Given the description of an element on the screen output the (x, y) to click on. 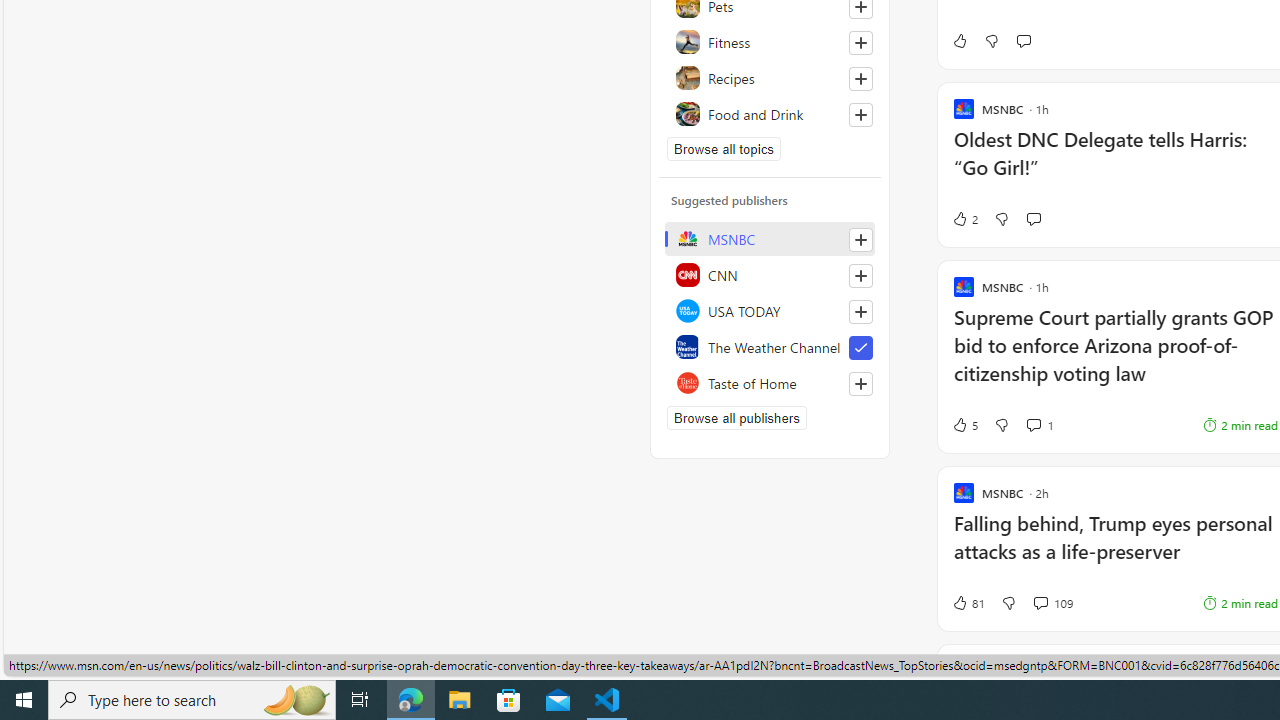
Fitness (770, 42)
Like (959, 40)
MSNBC (770, 238)
Browse all topics (724, 148)
The Weather Channel (770, 346)
2 Like (964, 219)
Unfollow this source (860, 348)
Follow this source (860, 384)
